Given the description of an element on the screen output the (x, y) to click on. 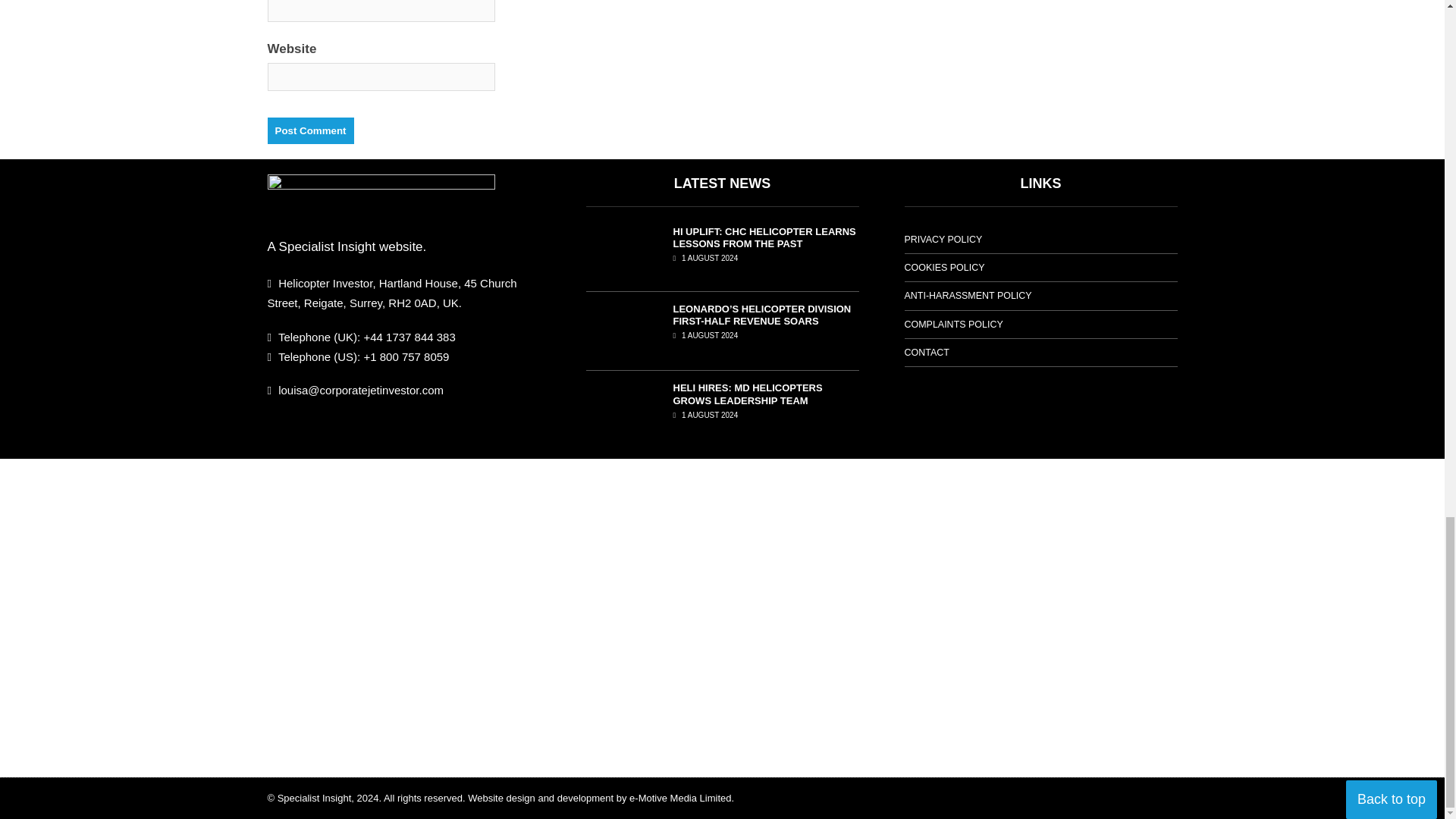
Post Comment (309, 130)
